Given the description of an element on the screen output the (x, y) to click on. 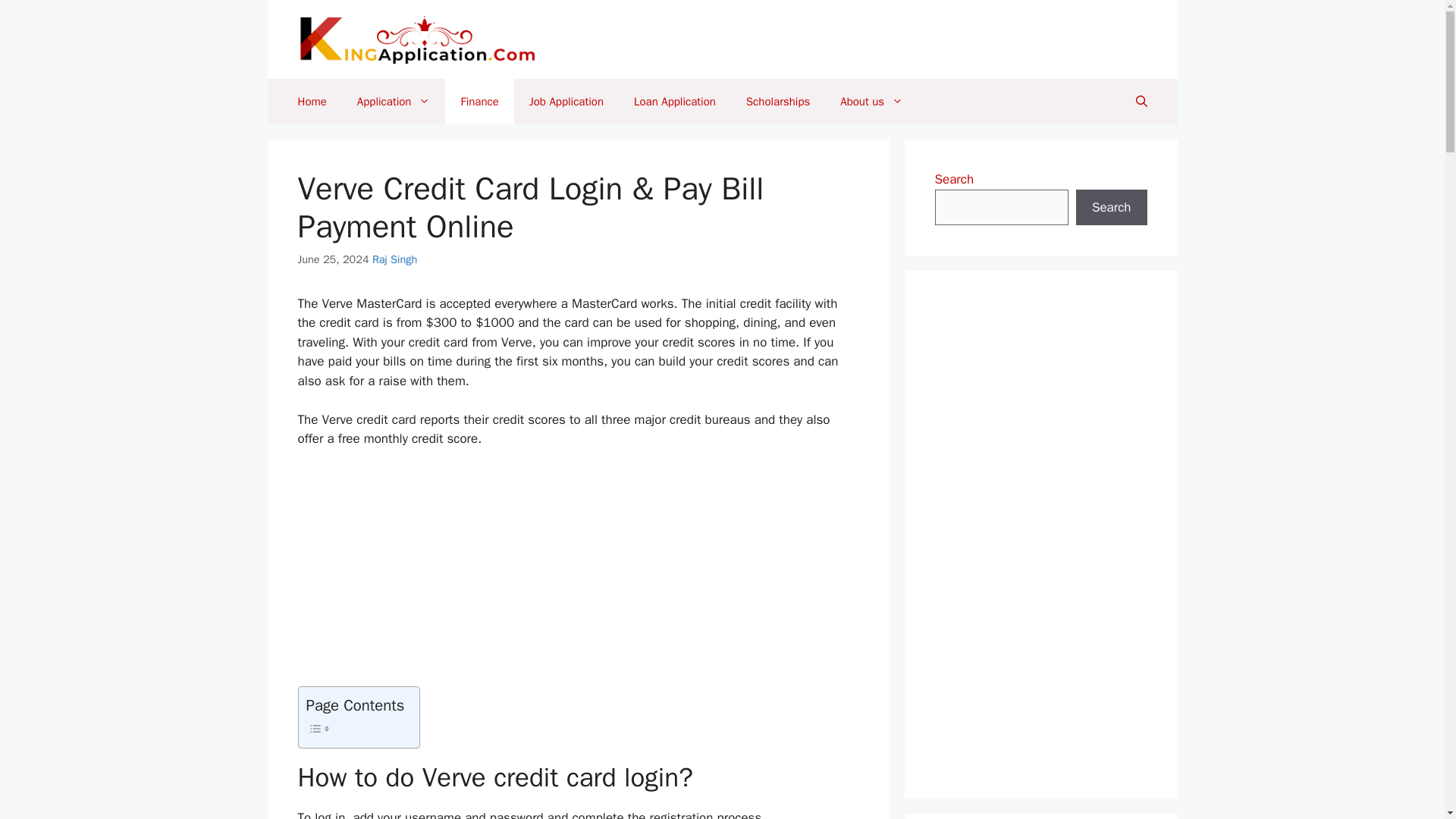
Job Application (565, 101)
Scholarships (777, 101)
Raj Singh (394, 259)
Application (393, 101)
About us (871, 101)
Home (311, 101)
Advertisement (578, 573)
Loan Application (674, 101)
Raj Singh (394, 259)
Finance (479, 101)
